Given the description of an element on the screen output the (x, y) to click on. 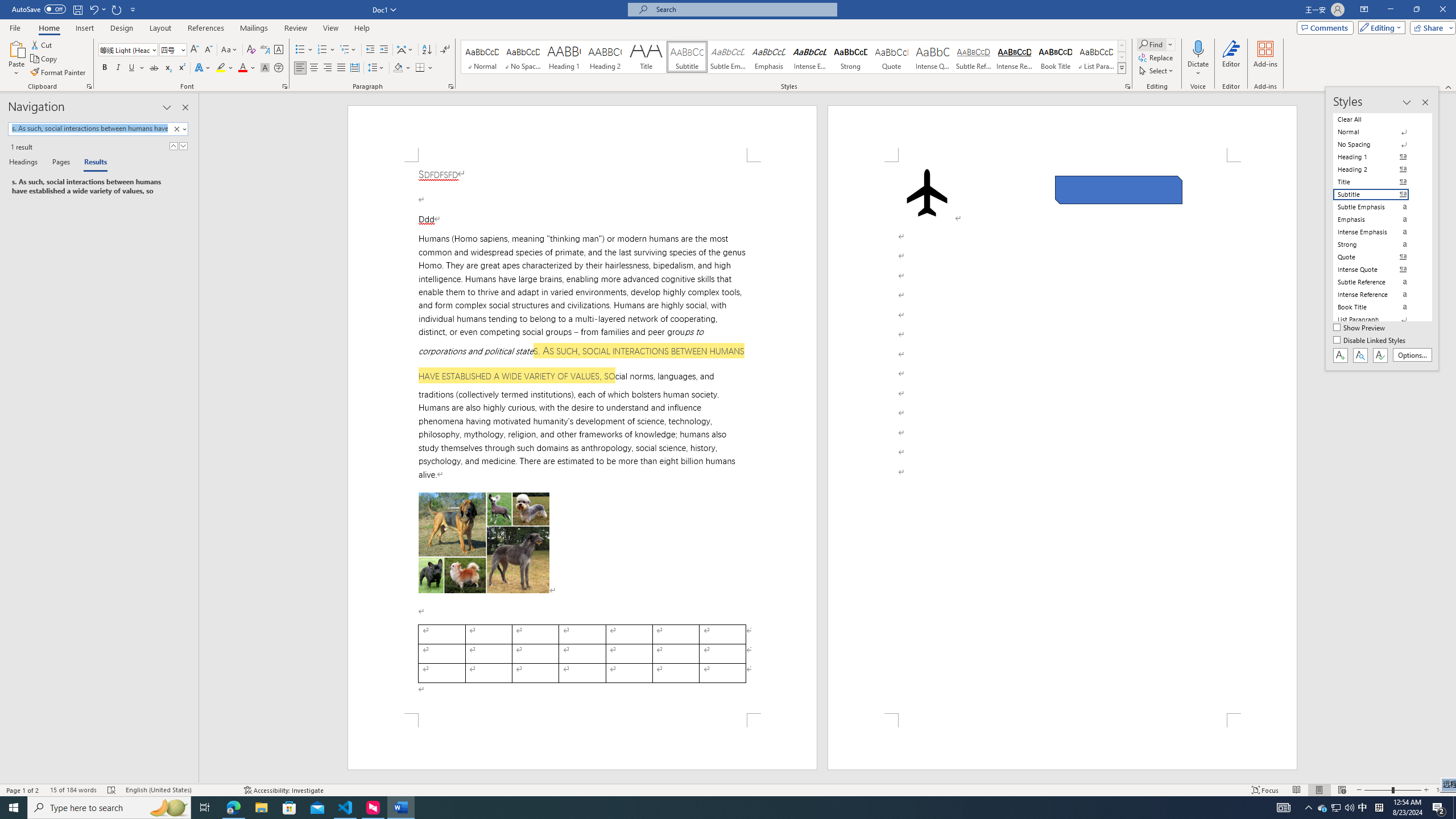
Heading 2 (605, 56)
